Given the description of an element on the screen output the (x, y) to click on. 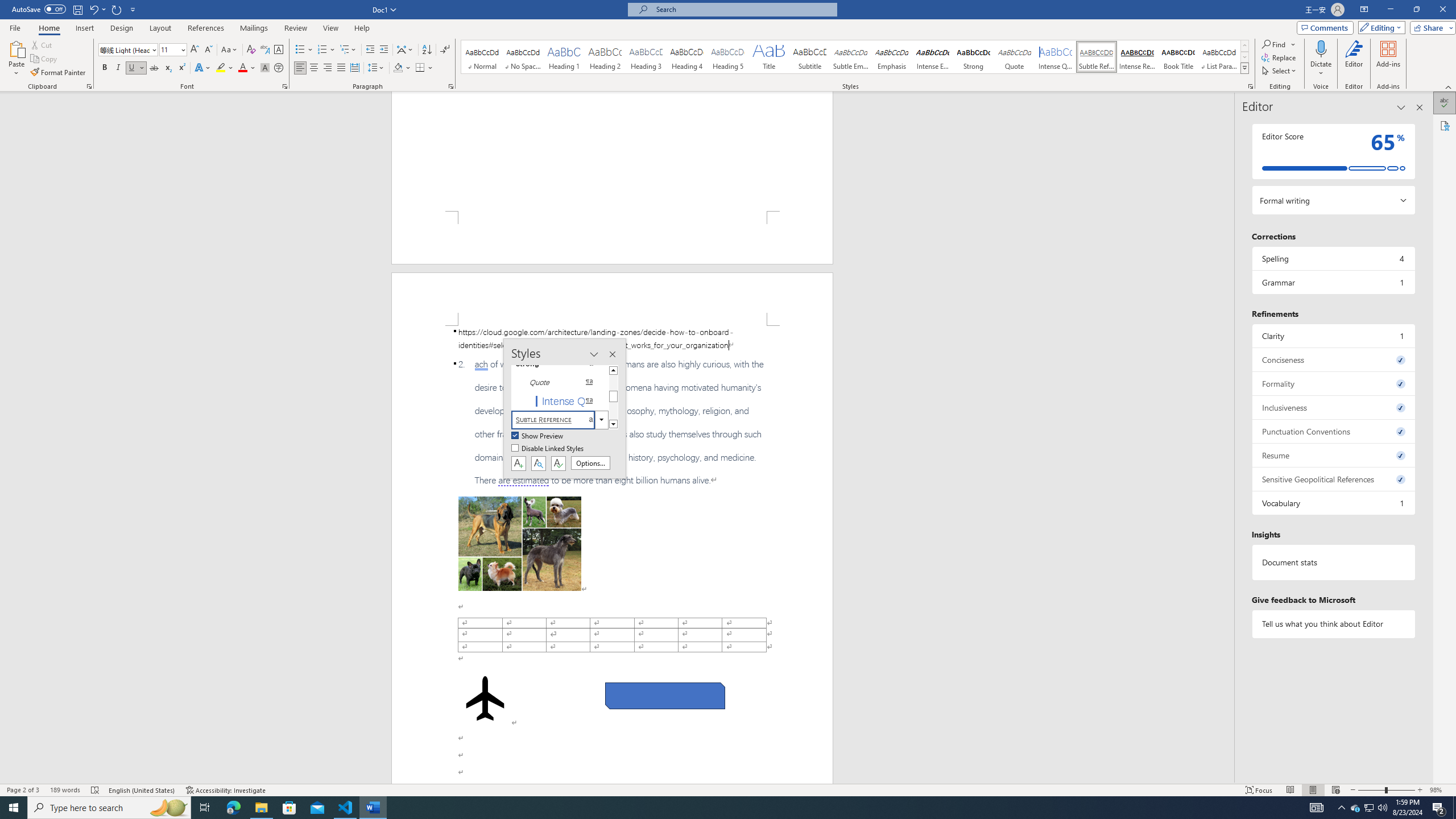
Text Highlight Color Yellow (220, 67)
Page 2 content (611, 554)
Document statistics (1333, 561)
Accessibility Checker Accessibility: Investigate (226, 790)
Undo Style (92, 9)
Language English (United States) (141, 790)
Repeat Style (117, 9)
Strong (973, 56)
Class: NetUIButton (558, 463)
AutomationID: QuickStylesGallery (855, 56)
Font Color Automatic (241, 67)
